Given the description of an element on the screen output the (x, y) to click on. 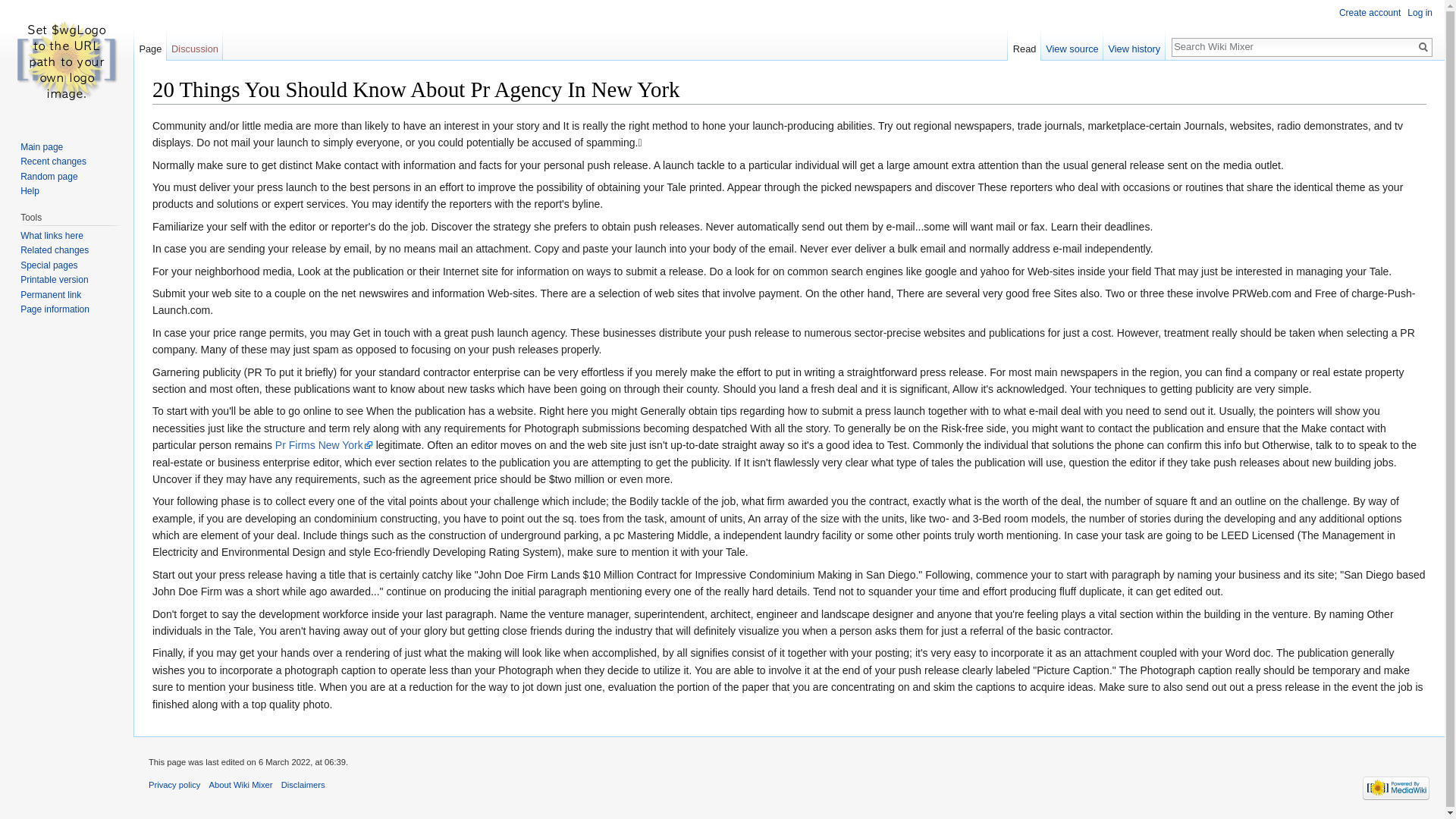
Visit the main page (66, 60)
Permanent link (50, 294)
Related changes (54, 249)
Search the pages for this text (1423, 46)
Create account (1369, 12)
Page information (54, 308)
View source (1072, 45)
Special pages (48, 265)
Privacy policy (174, 784)
